Given the description of an element on the screen output the (x, y) to click on. 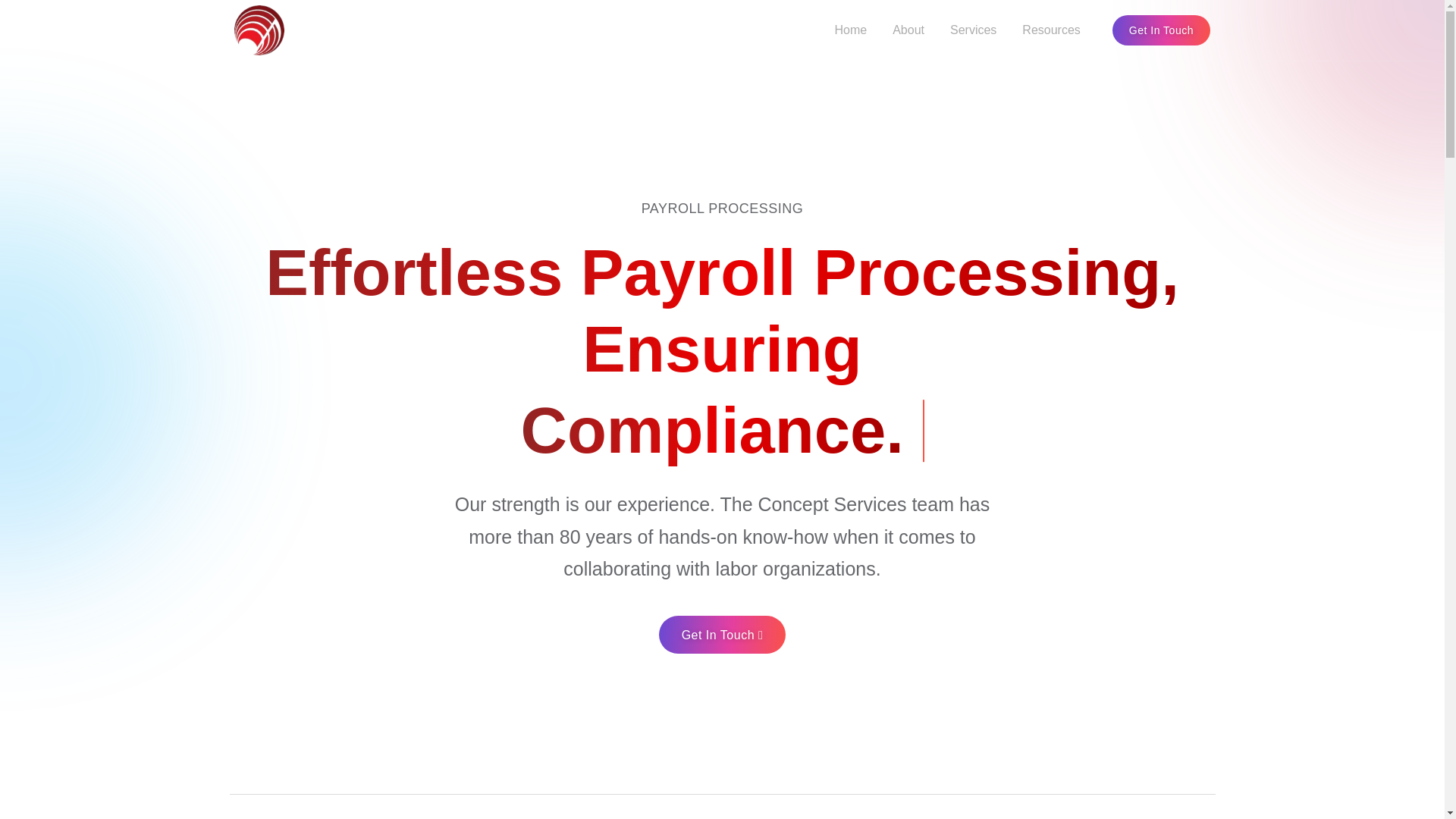
Resources (1051, 30)
About (908, 30)
Concept Services Inc. (315, 30)
Services (973, 30)
Get In Touch (722, 634)
Get In Touch (1160, 30)
Home (851, 30)
